Given the description of an element on the screen output the (x, y) to click on. 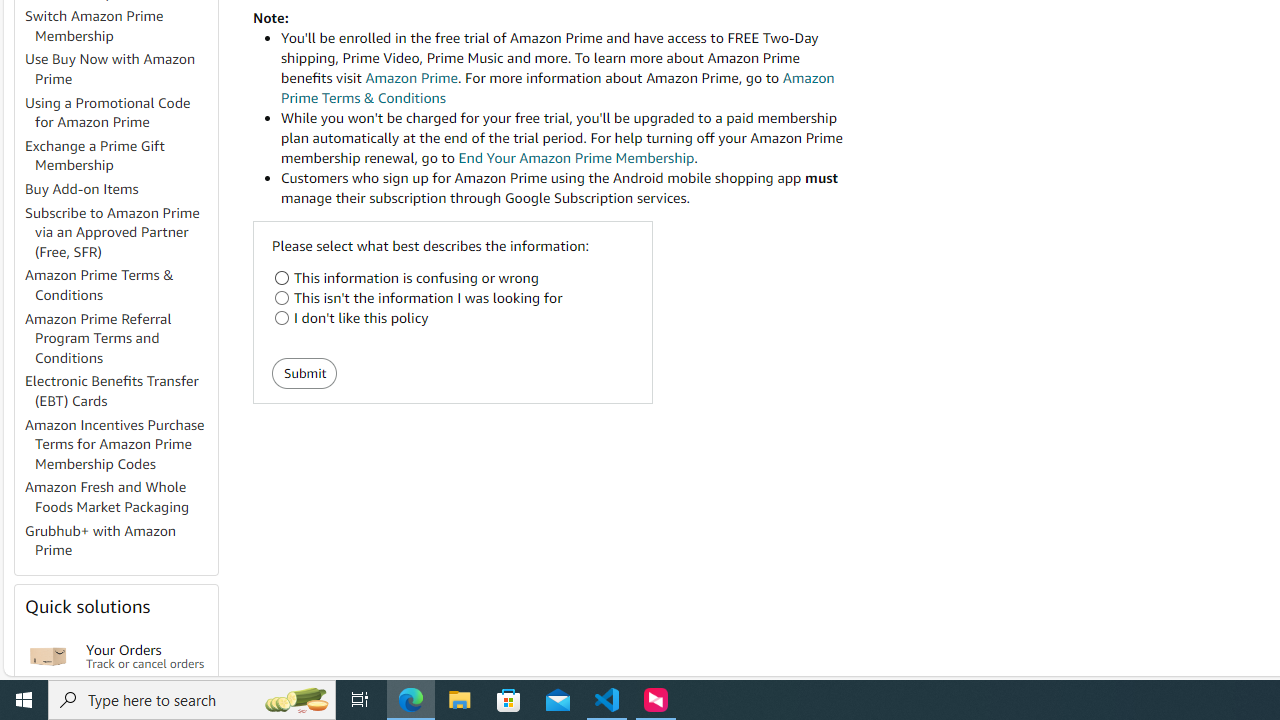
Buy Add-on Items (120, 190)
Amazon Prime Referral Program Terms and Conditions (120, 338)
This information is confusing or wrong (282, 277)
Switch Amazon Prime Membership (120, 26)
